Given the description of an element on the screen output the (x, y) to click on. 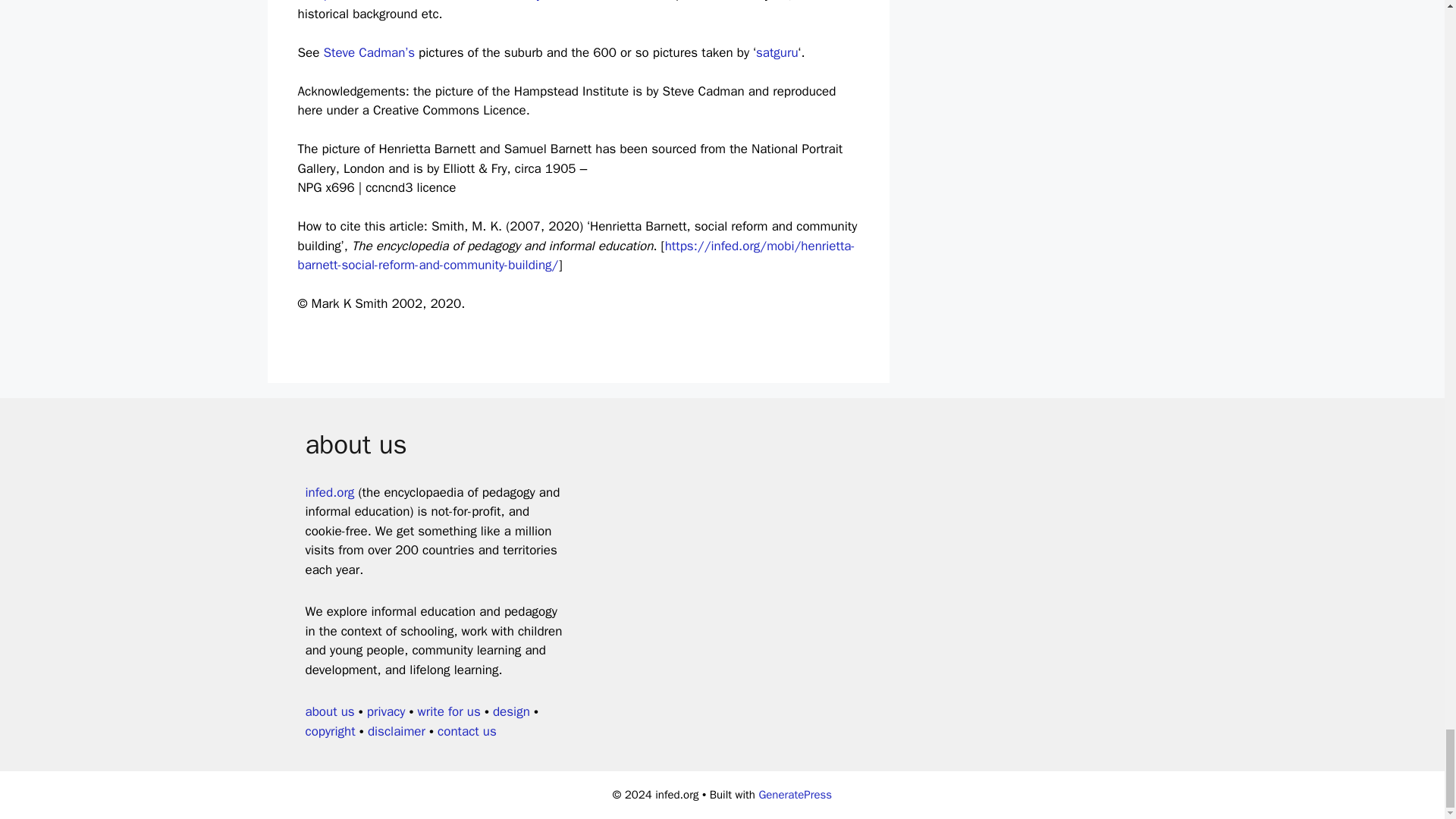
history (523, 1)
Hampstead Garden Suburb tour (386, 1)
satguru (776, 52)
Henrietta Barnett (575, 255)
